Given the description of an element on the screen output the (x, y) to click on. 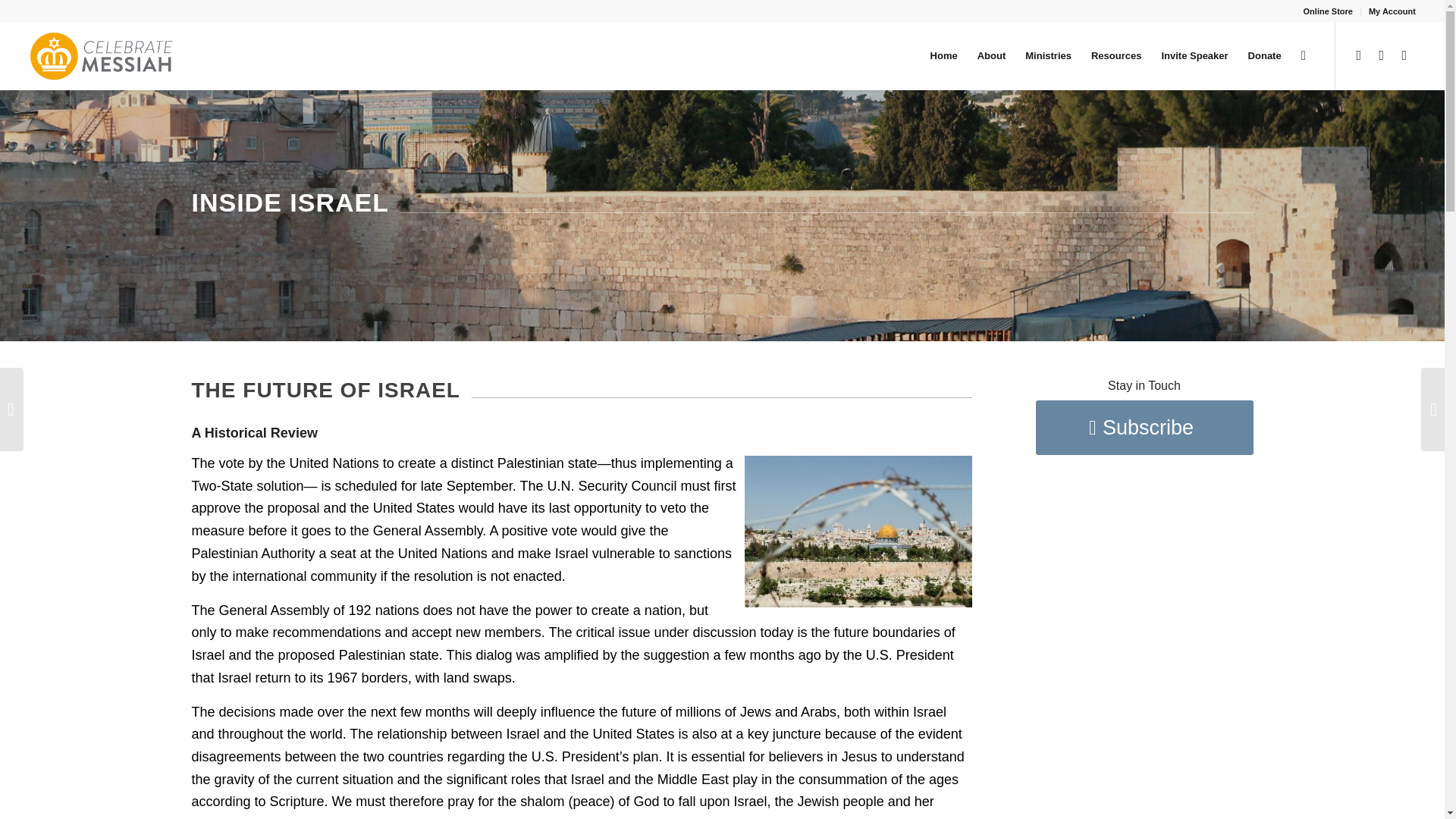
My Account (1391, 11)
Resources (1116, 56)
Ministries (1047, 56)
Youtube (1359, 55)
About (992, 56)
Facebook (1381, 55)
Instagram (1404, 55)
Donate (1265, 56)
Online Store (1327, 11)
Home (944, 56)
Invite Speaker (1194, 56)
